Given the description of an element on the screen output the (x, y) to click on. 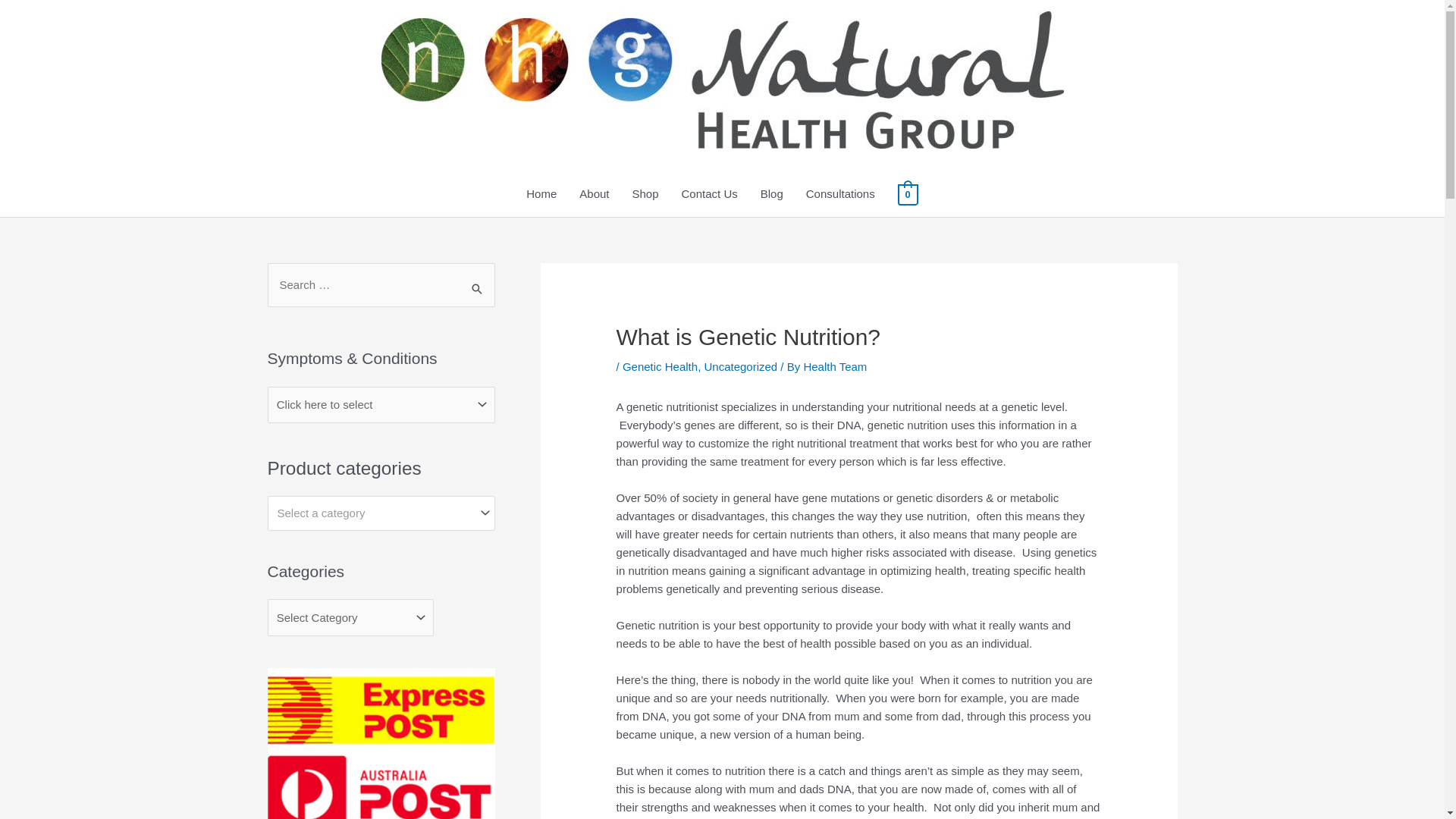
About Element type: text (593, 193)
Genetic Health Element type: text (659, 366)
Shop Element type: text (644, 193)
Consultations Element type: text (840, 193)
Uncategorized Element type: text (740, 366)
0 Element type: text (907, 193)
Search Element type: text (478, 283)
Health Team Element type: text (834, 366)
Blog Element type: text (771, 193)
Home Element type: text (540, 193)
Contact Us Element type: text (709, 193)
